Given the description of an element on the screen output the (x, y) to click on. 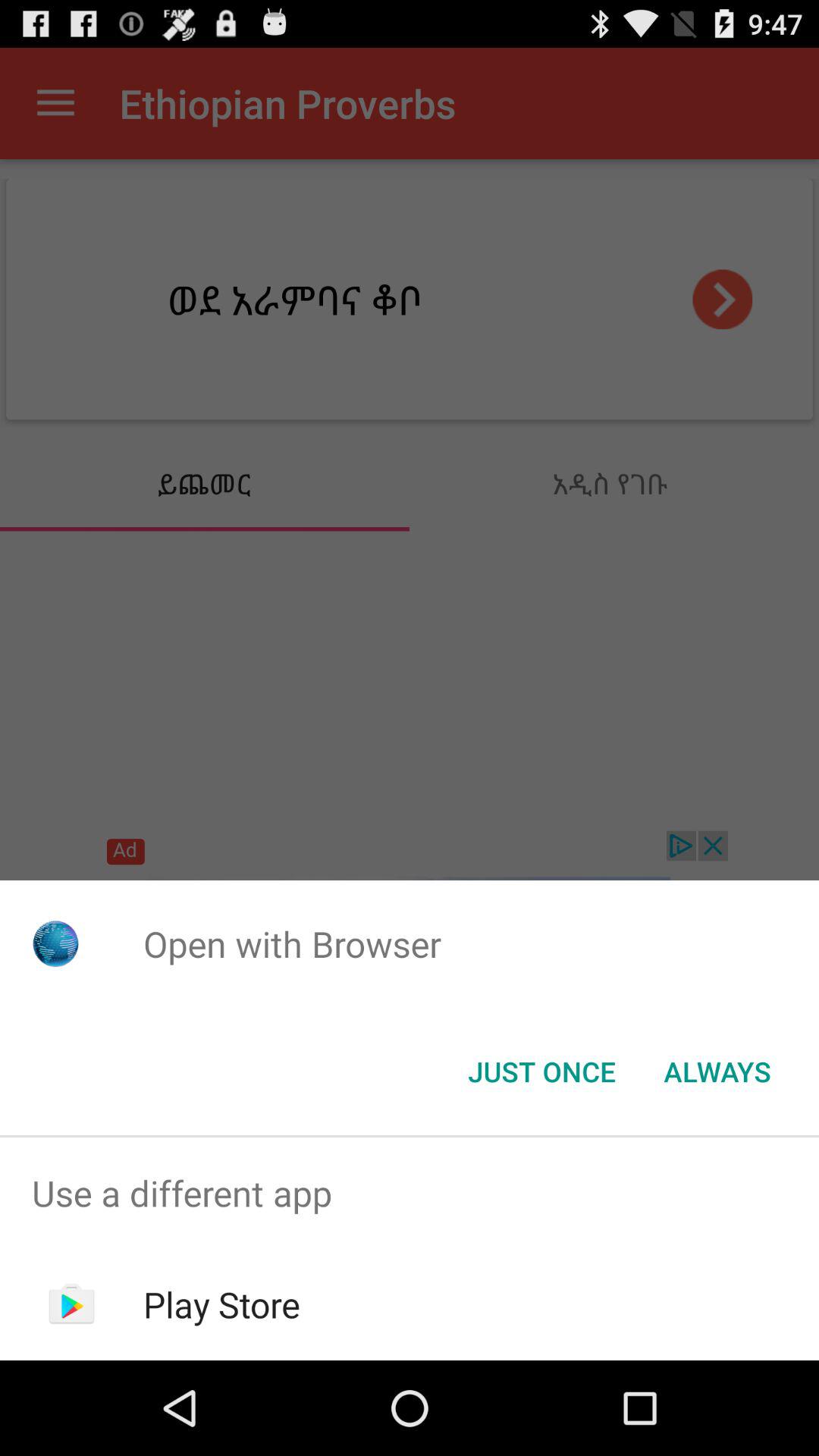
press the just once (541, 1071)
